Given the description of an element on the screen output the (x, y) to click on. 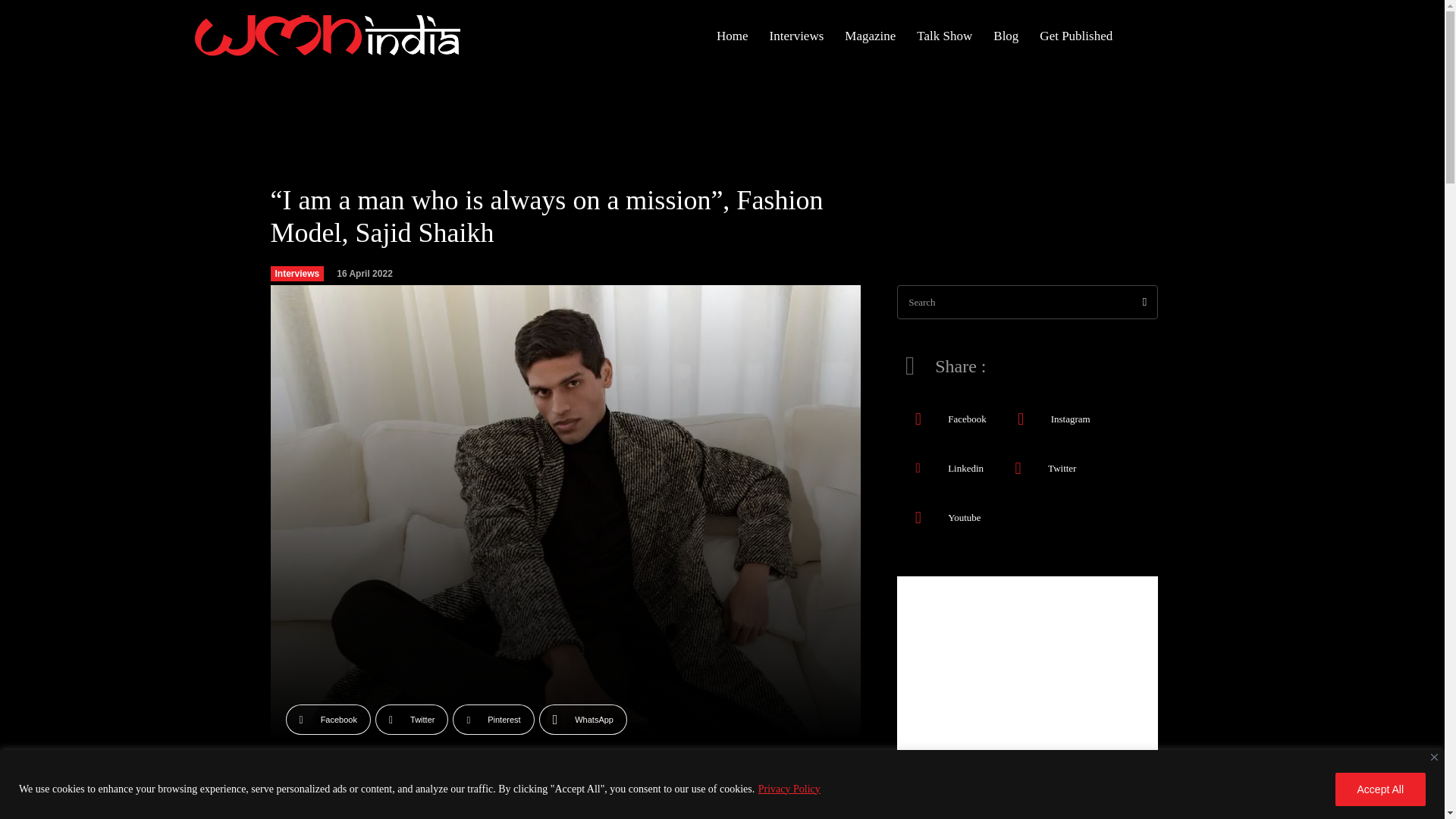
Magazine (869, 36)
Privacy Policy (789, 788)
Facebook (327, 719)
Home (732, 36)
Interviews (796, 36)
Accept All (1380, 788)
Blog (1005, 36)
Get Published (1075, 36)
Twitter (411, 719)
Twitter (1018, 467)
Pinterest (493, 719)
Instagram (1021, 418)
WhatsApp (582, 719)
Facebook (917, 418)
Linkedin (917, 467)
